Given the description of an element on the screen output the (x, y) to click on. 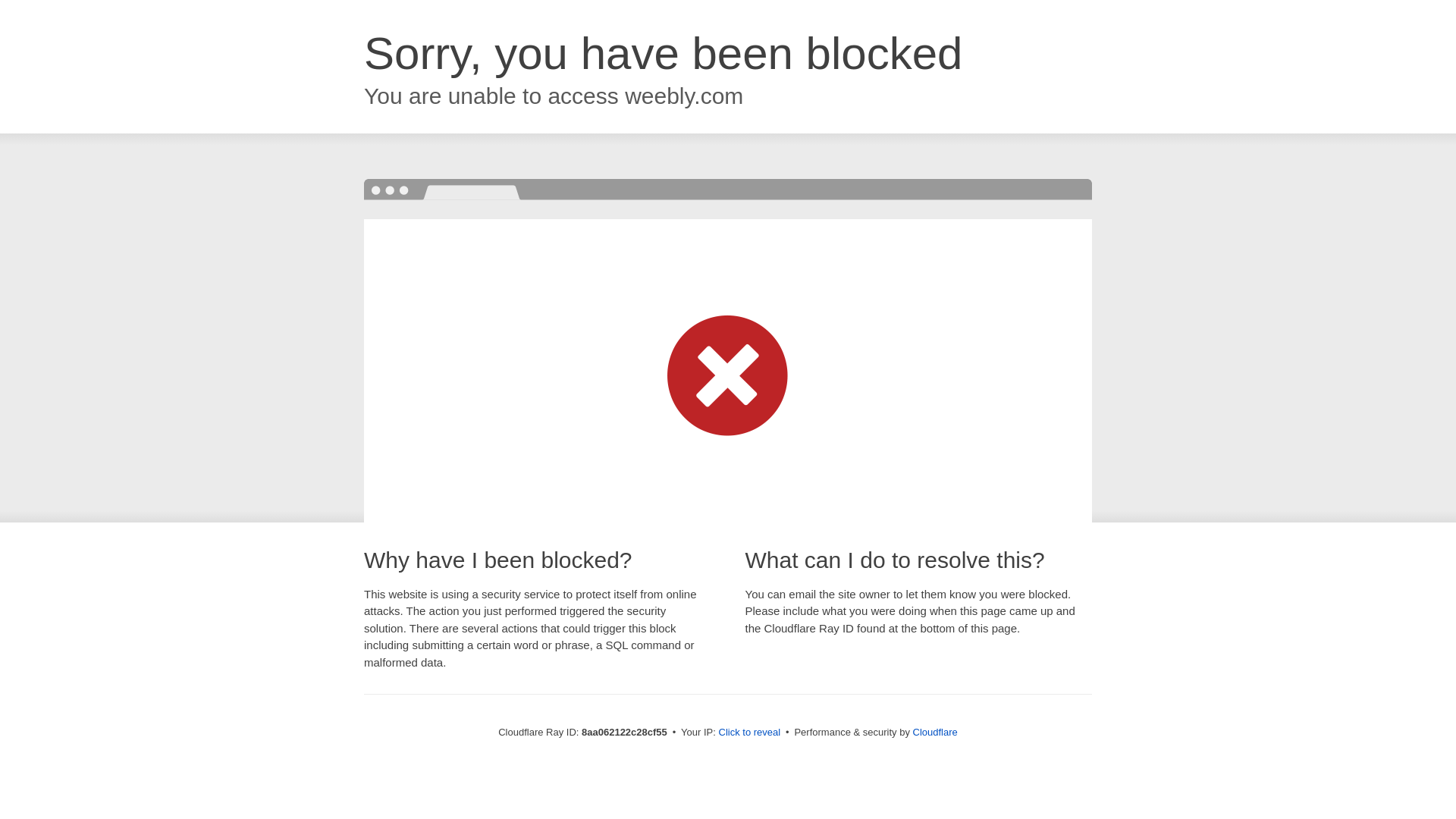
Click to reveal (749, 732)
Cloudflare (935, 731)
